Given the description of an element on the screen output the (x, y) to click on. 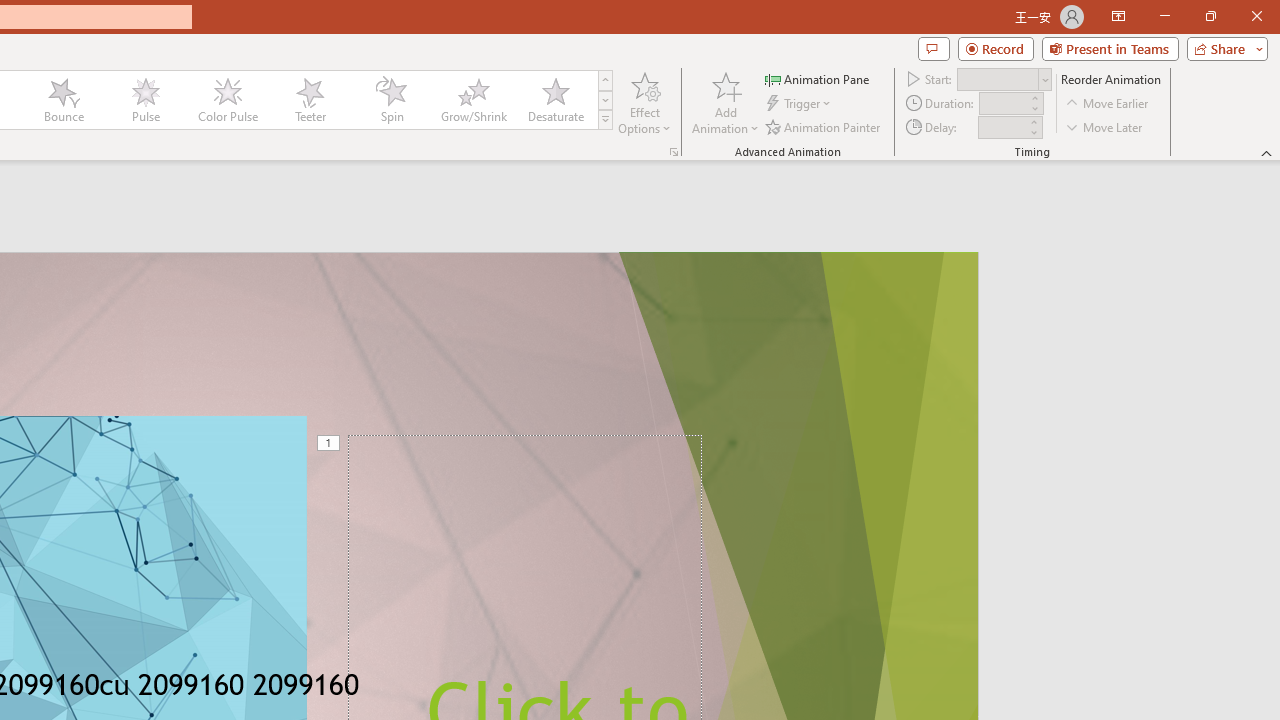
Trigger (799, 103)
Start (1004, 78)
Less (1033, 132)
Grow/Shrink (473, 100)
Color Pulse (227, 100)
Animation Styles (605, 120)
Move Later (1105, 126)
Move Earlier (1107, 103)
Bounce (63, 100)
Animation Delay (1002, 127)
Row Down (605, 100)
Add Animation (725, 102)
Spin (391, 100)
